Given the description of an element on the screen output the (x, y) to click on. 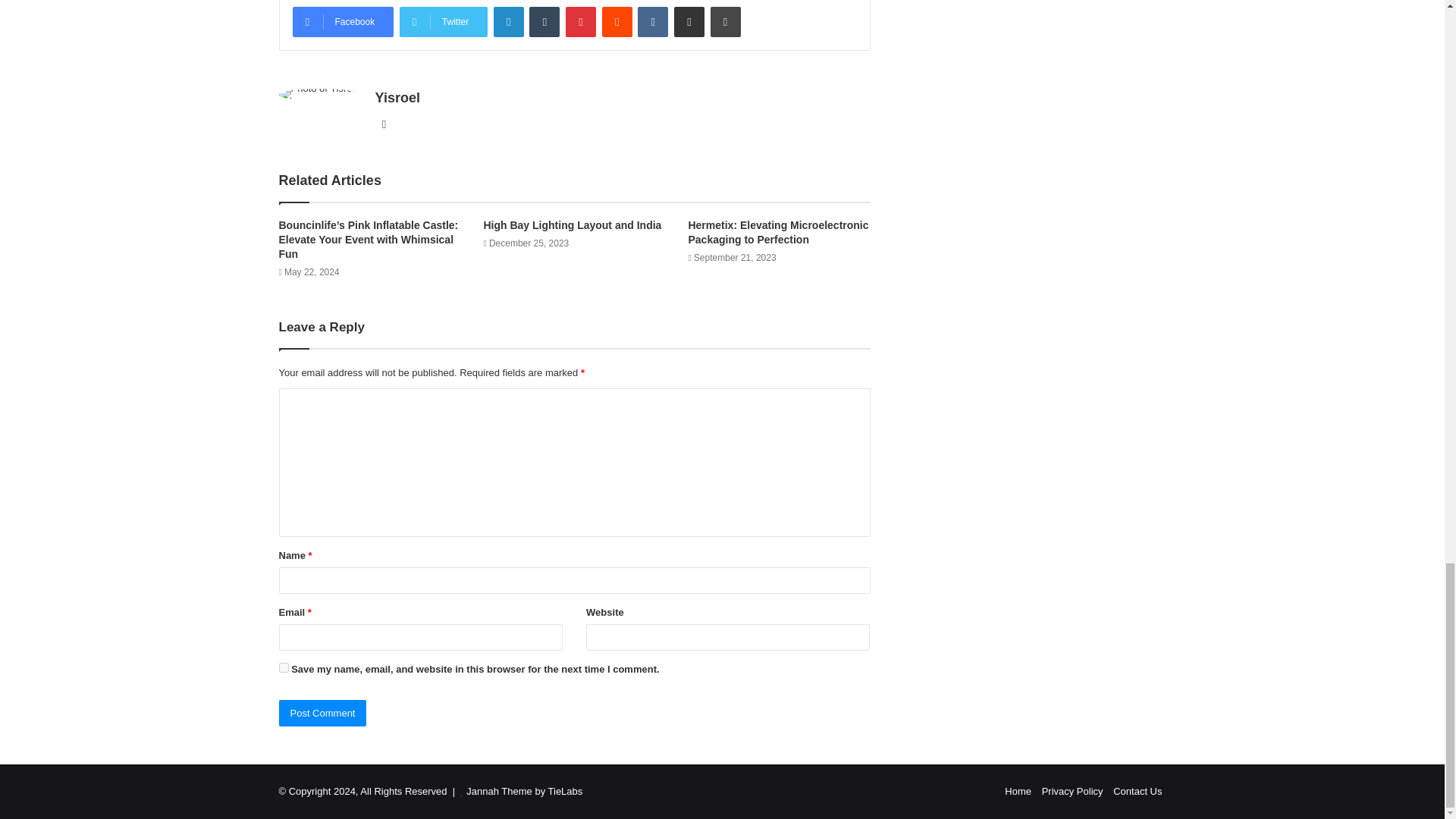
Reddit (616, 21)
Post Comment (322, 713)
Post Comment (322, 713)
Pinterest (580, 21)
Facebook (343, 21)
LinkedIn (508, 21)
VKontakte (652, 21)
LinkedIn (508, 21)
Website (384, 124)
Twitter (442, 21)
Print (725, 21)
yes (283, 667)
Share via Email (689, 21)
Share via Email (689, 21)
Pinterest (580, 21)
